Given the description of an element on the screen output the (x, y) to click on. 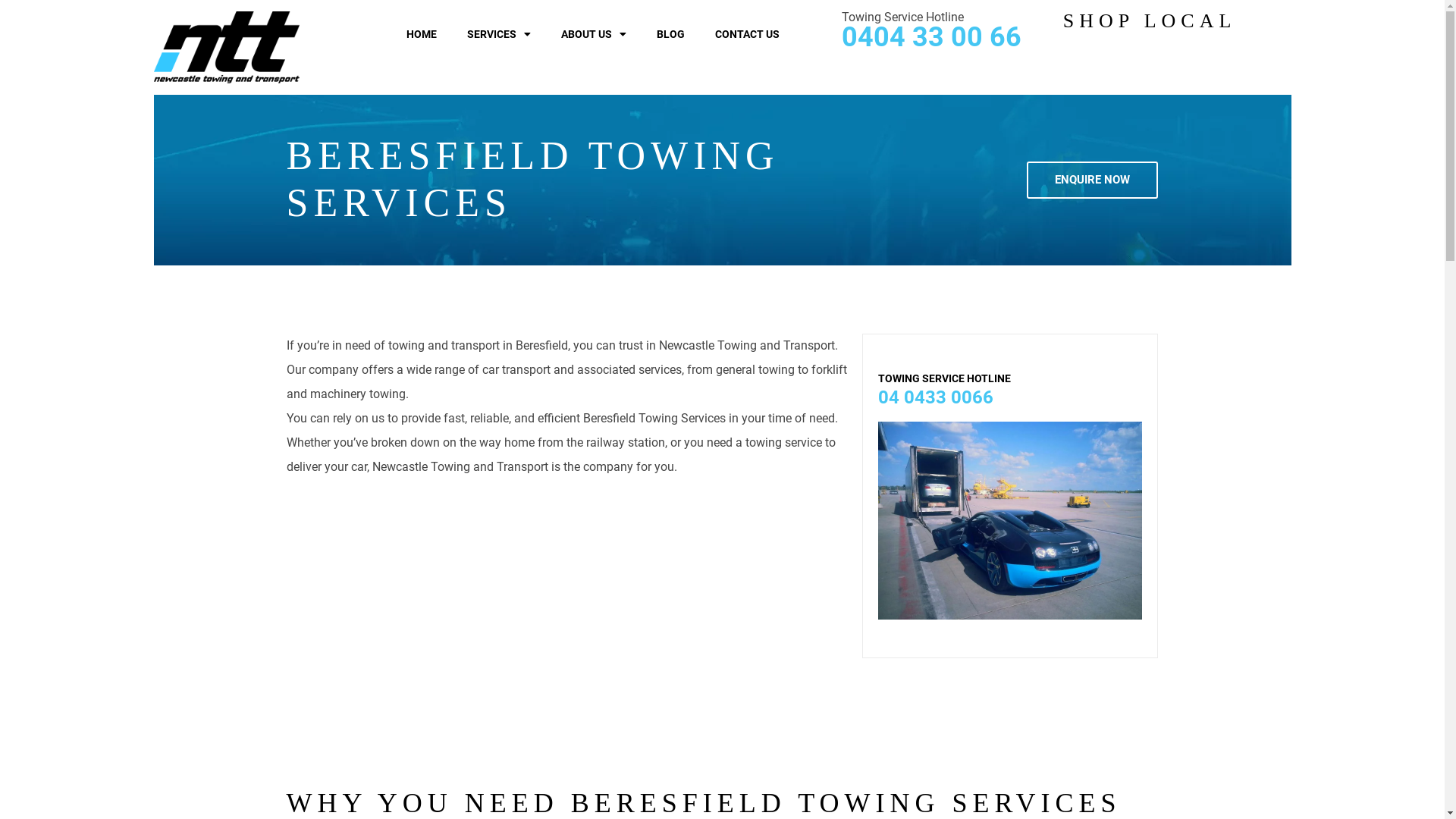
HOME Element type: text (421, 33)
BLOG Element type: text (670, 33)
CONTACT US Element type: text (746, 33)
Beresfield Towing - beresfield towing Element type: hover (1010, 520)
0404 33 00 66 Element type: text (931, 37)
SERVICES Element type: text (498, 33)
04 0433 0066 Element type: text (935, 396)
ENQUIRE NOW Element type: text (1091, 179)
ABOUT US Element type: text (593, 33)
